Given the description of an element on the screen output the (x, y) to click on. 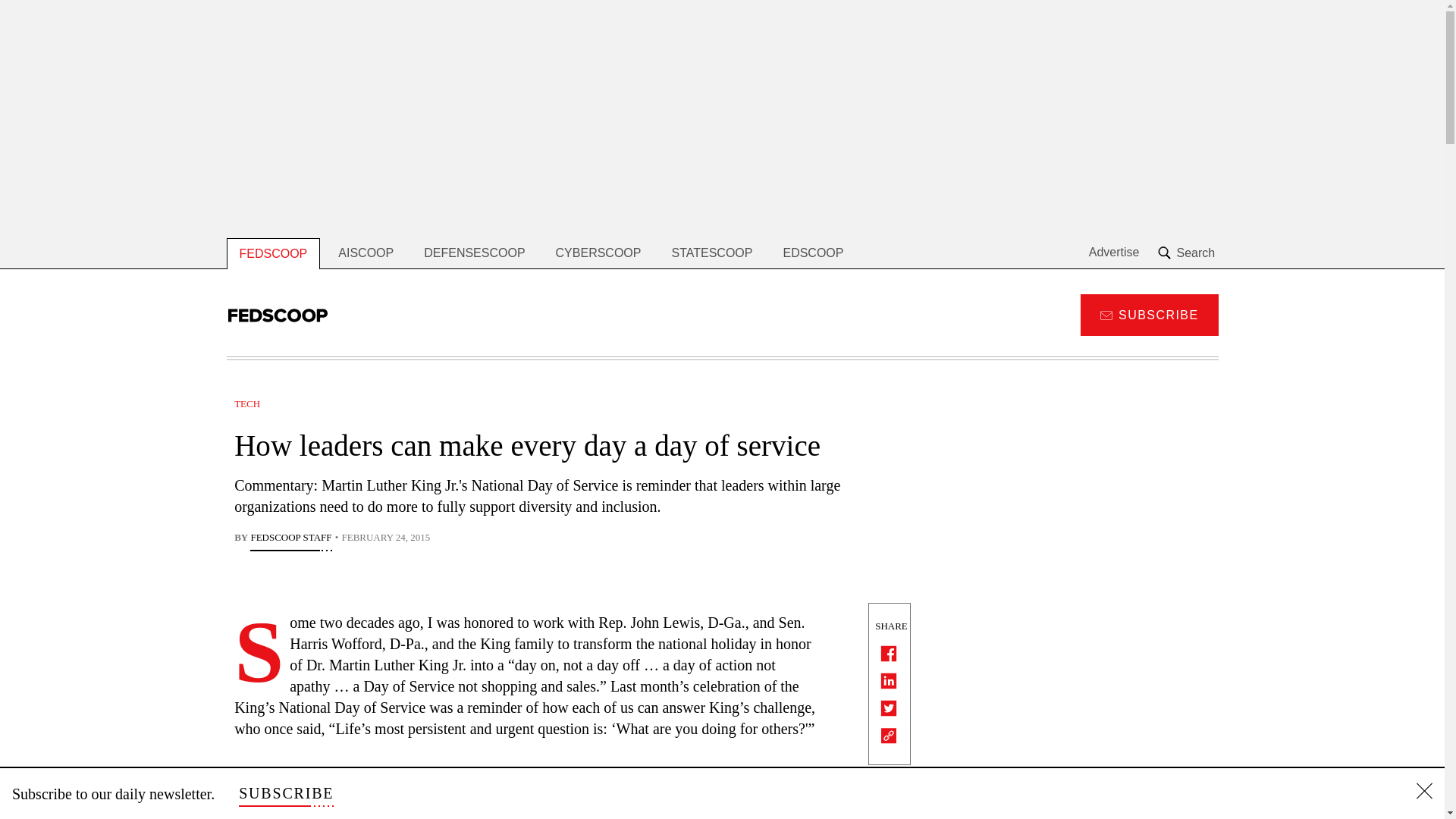
Advertise (1114, 252)
CYBERSCOOP (598, 253)
FEDSCOOP (272, 253)
AISCOOP (366, 253)
FedScoop Staff (290, 539)
EDSCOOP (813, 253)
DEFENSESCOOP (474, 253)
FEDSCOOP STAFF (290, 539)
SUBSCRIBE (285, 793)
TECH (247, 403)
SUBSCRIBE (1148, 314)
STATESCOOP (711, 253)
Search (1187, 252)
